Given the description of an element on the screen output the (x, y) to click on. 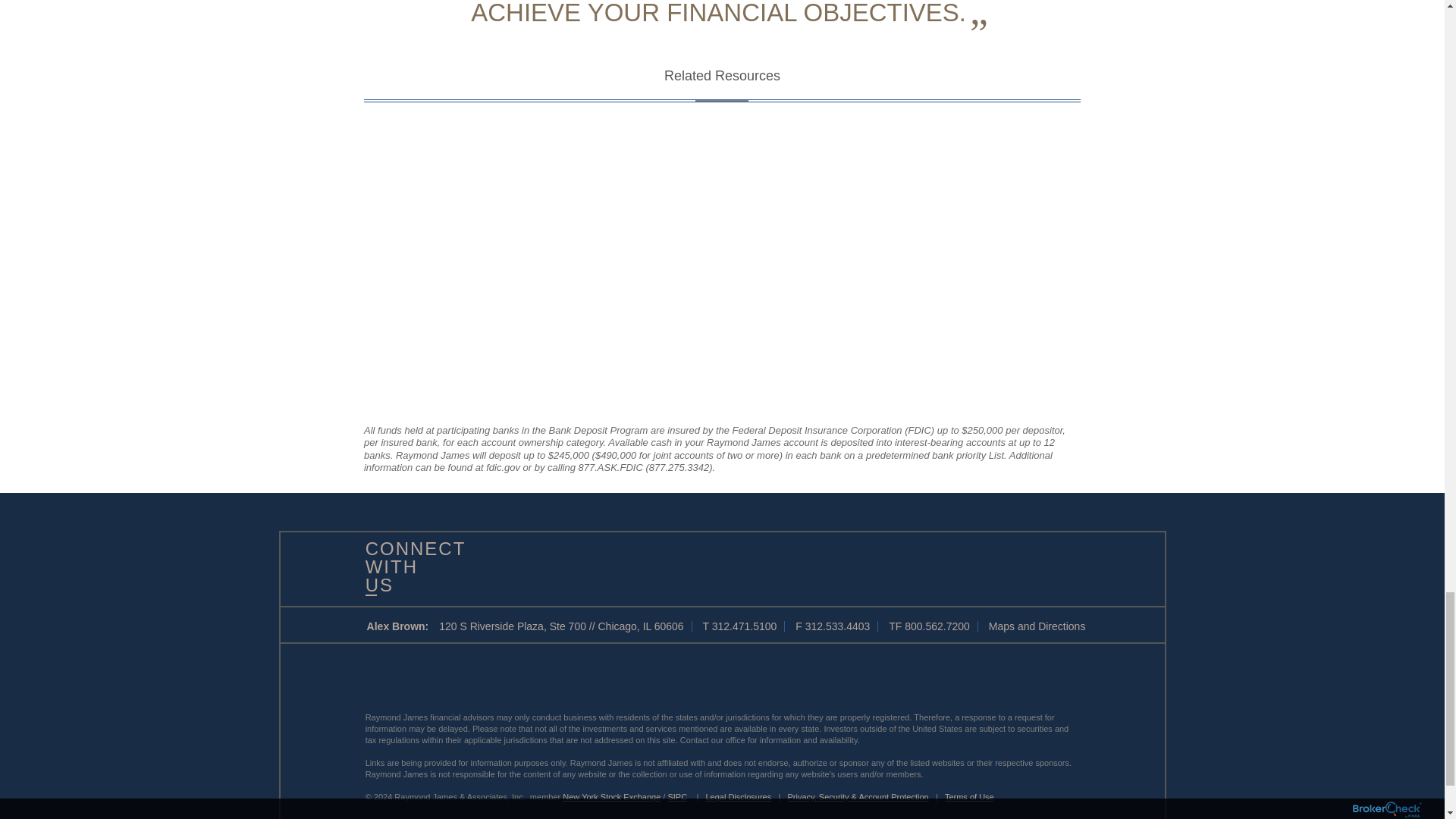
New York Stock Exchange (611, 796)
Terms of Use (969, 796)
Legal Disclosures (737, 796)
SIPC (676, 796)
Privacy, Security and Account Protection (857, 796)
